Given the description of an element on the screen output the (x, y) to click on. 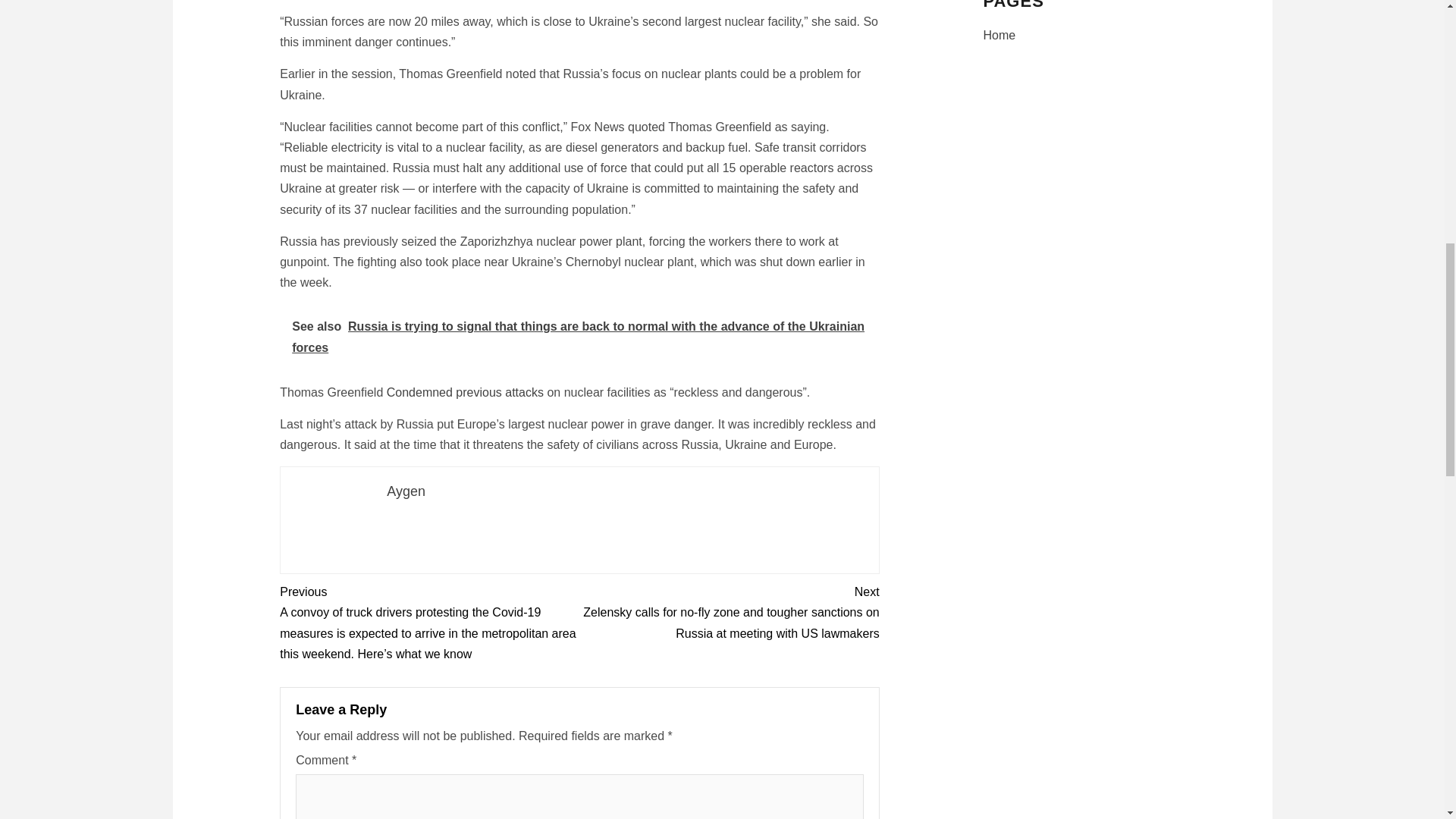
Condemned previous attacks (465, 391)
Aygen (406, 491)
